Given the description of an element on the screen output the (x, y) to click on. 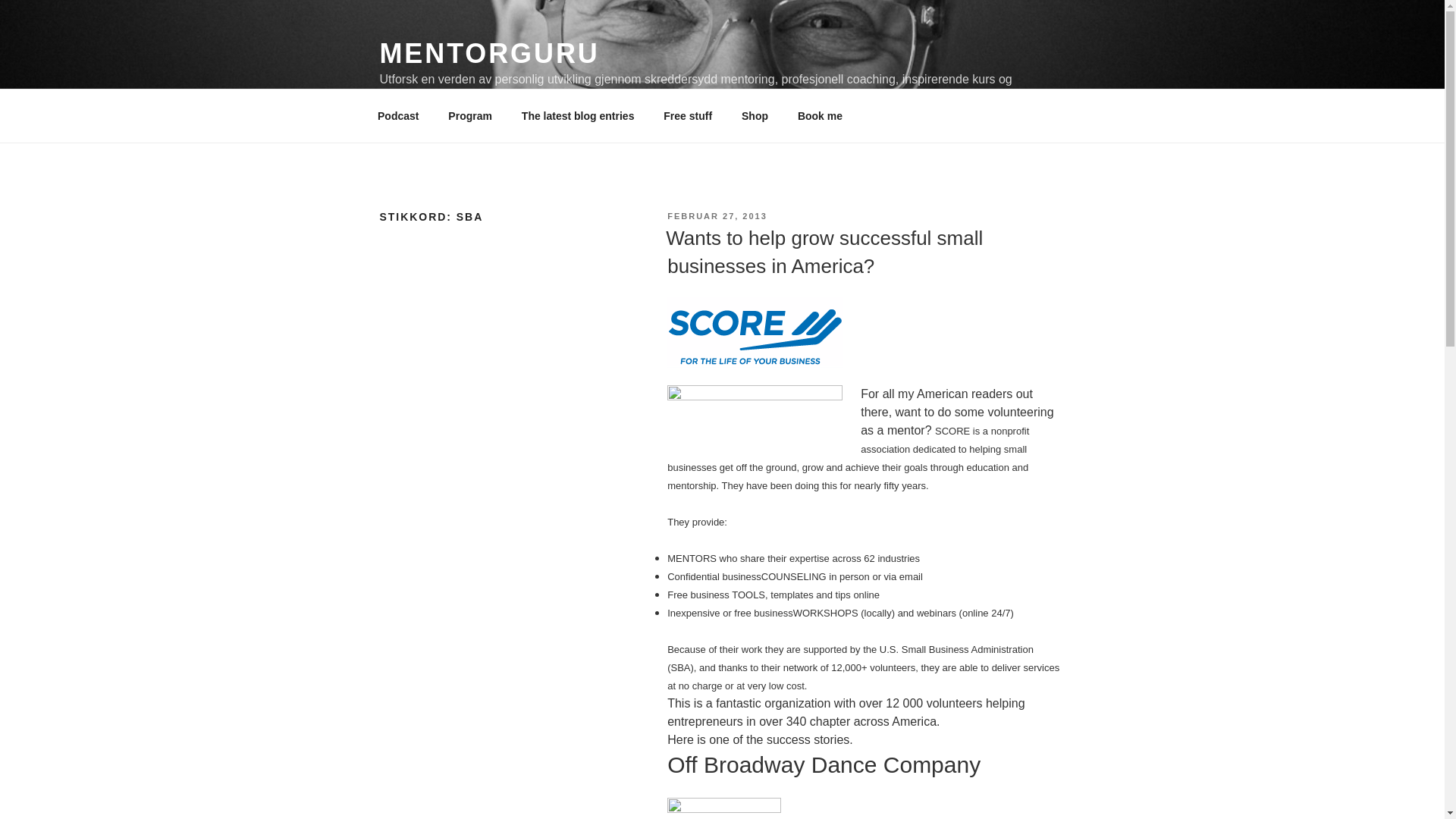
The latest blog entries (577, 115)
FEBRUAR 27, 2013 (716, 215)
Podcast (397, 115)
Program (470, 115)
Free stuff (687, 115)
score (754, 419)
Book me (820, 115)
MENTORGURU (488, 52)
Wants to help grow successful small businesses in America? (823, 251)
Shop (754, 115)
